Given the description of an element on the screen output the (x, y) to click on. 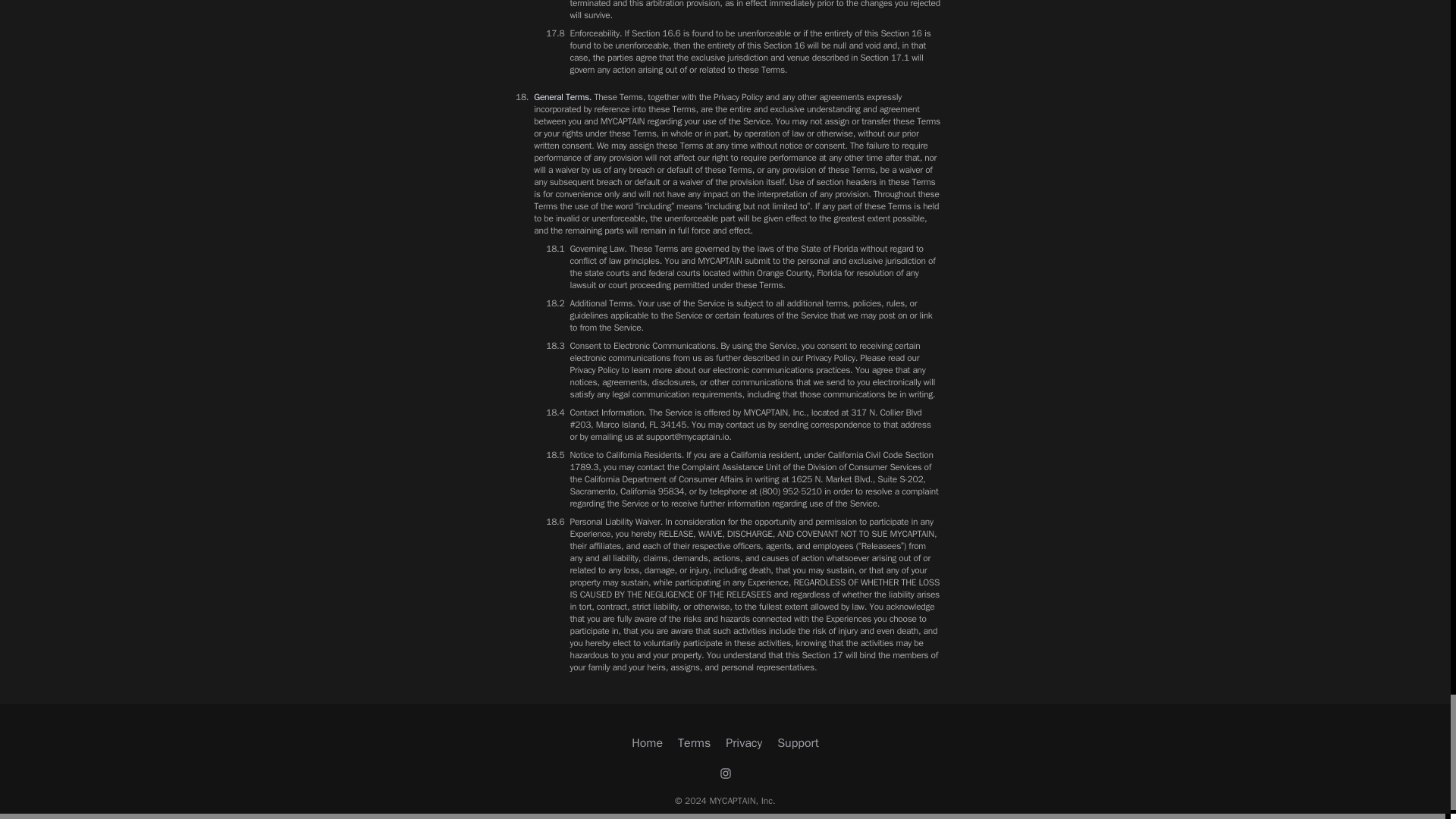
Home (646, 742)
Support (797, 742)
Privacy (743, 742)
Terms (694, 742)
Instagram (724, 773)
